Given the description of an element on the screen output the (x, y) to click on. 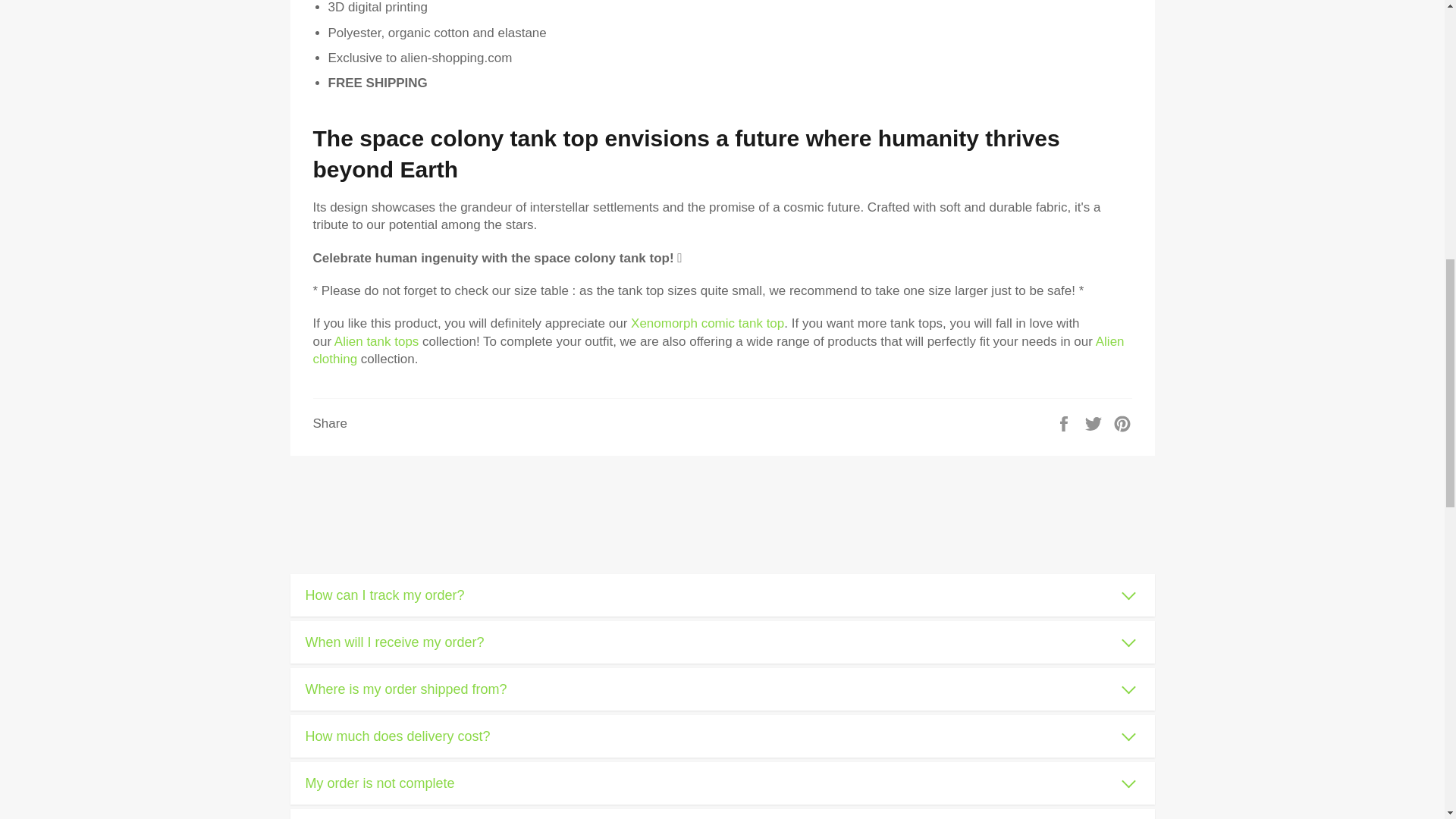
Xenomorph comic tank top (707, 323)
alien clothing (718, 350)
Alien tank tops (376, 341)
Pin on Pinterest (1122, 422)
Share on Facebook (1065, 422)
Share on Facebook (1065, 422)
xenomorph comic tank top (707, 323)
Tweet on Twitter (1095, 422)
Tweet on Twitter (1095, 422)
Pin on Pinterest (1122, 422)
Alien clothing (718, 350)
alien tank tops (376, 341)
